Given the description of an element on the screen output the (x, y) to click on. 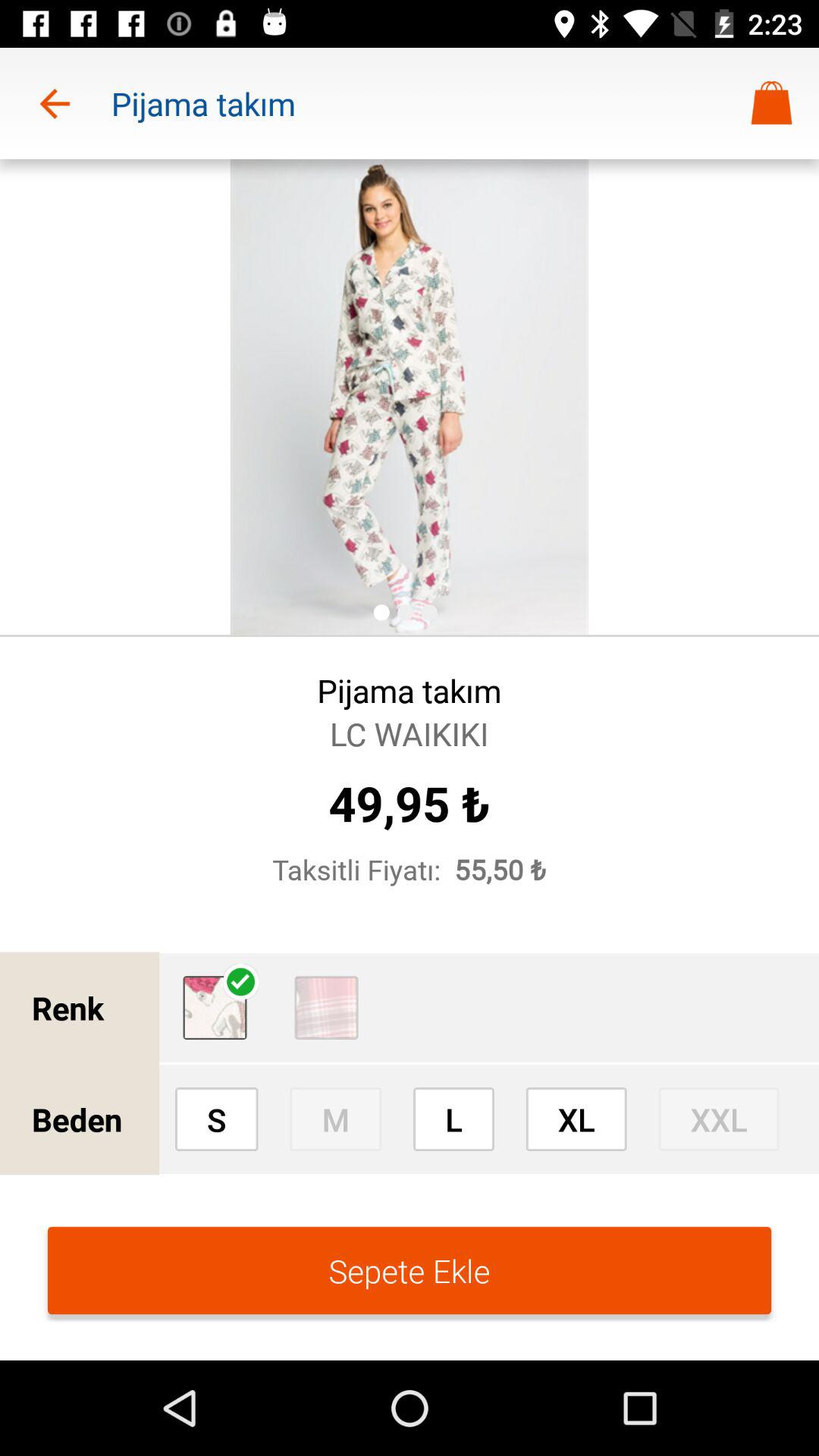
jump to l icon (453, 1119)
